Given the description of an element on the screen output the (x, y) to click on. 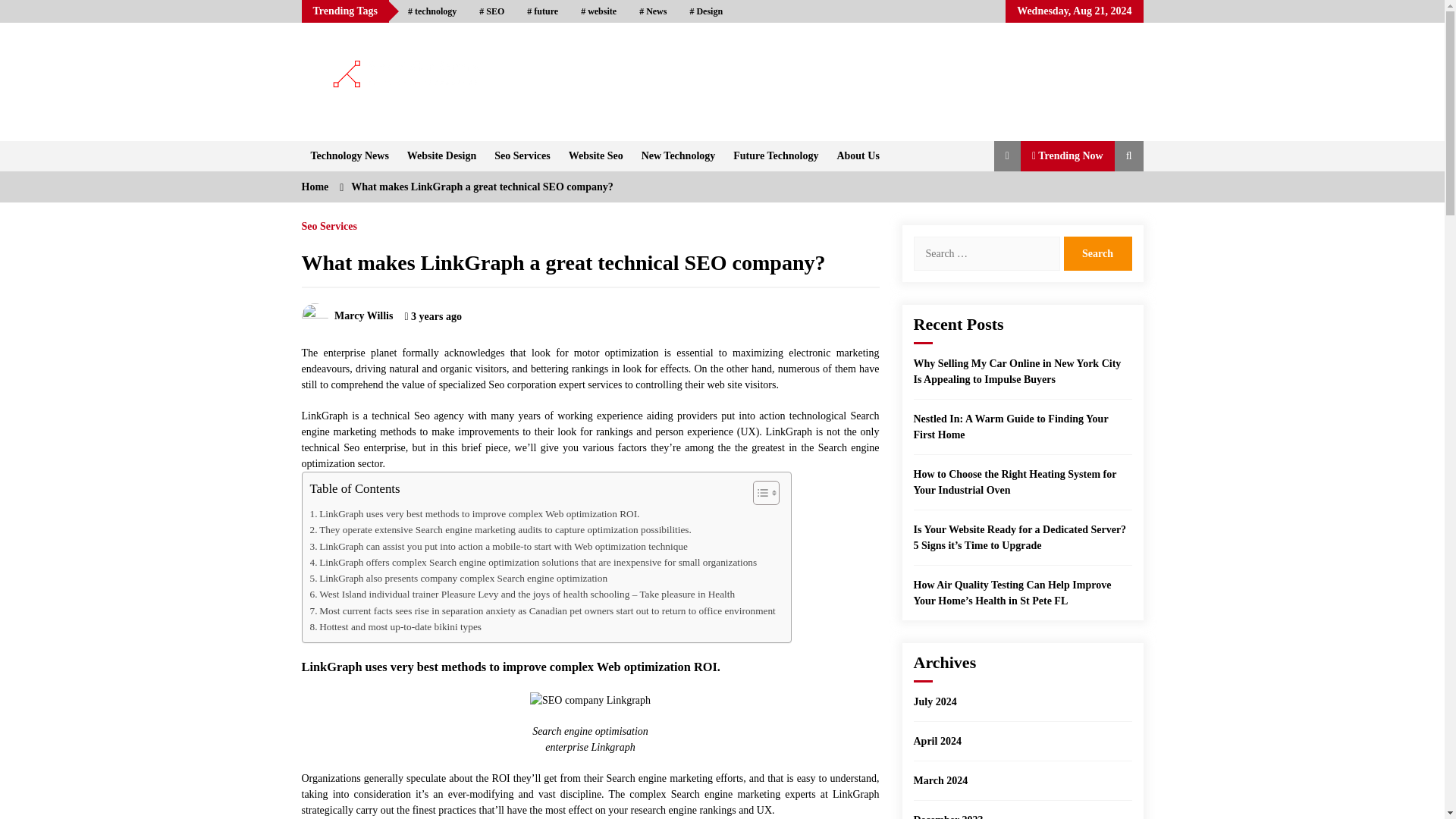
website (598, 11)
Hottest and most up-to-date bikini types (394, 626)
Website Design (440, 155)
Search (1096, 253)
About Us (857, 155)
Seo Services (521, 155)
Search (1096, 253)
News (652, 11)
SEO (491, 11)
Design (705, 11)
